Given the description of an element on the screen output the (x, y) to click on. 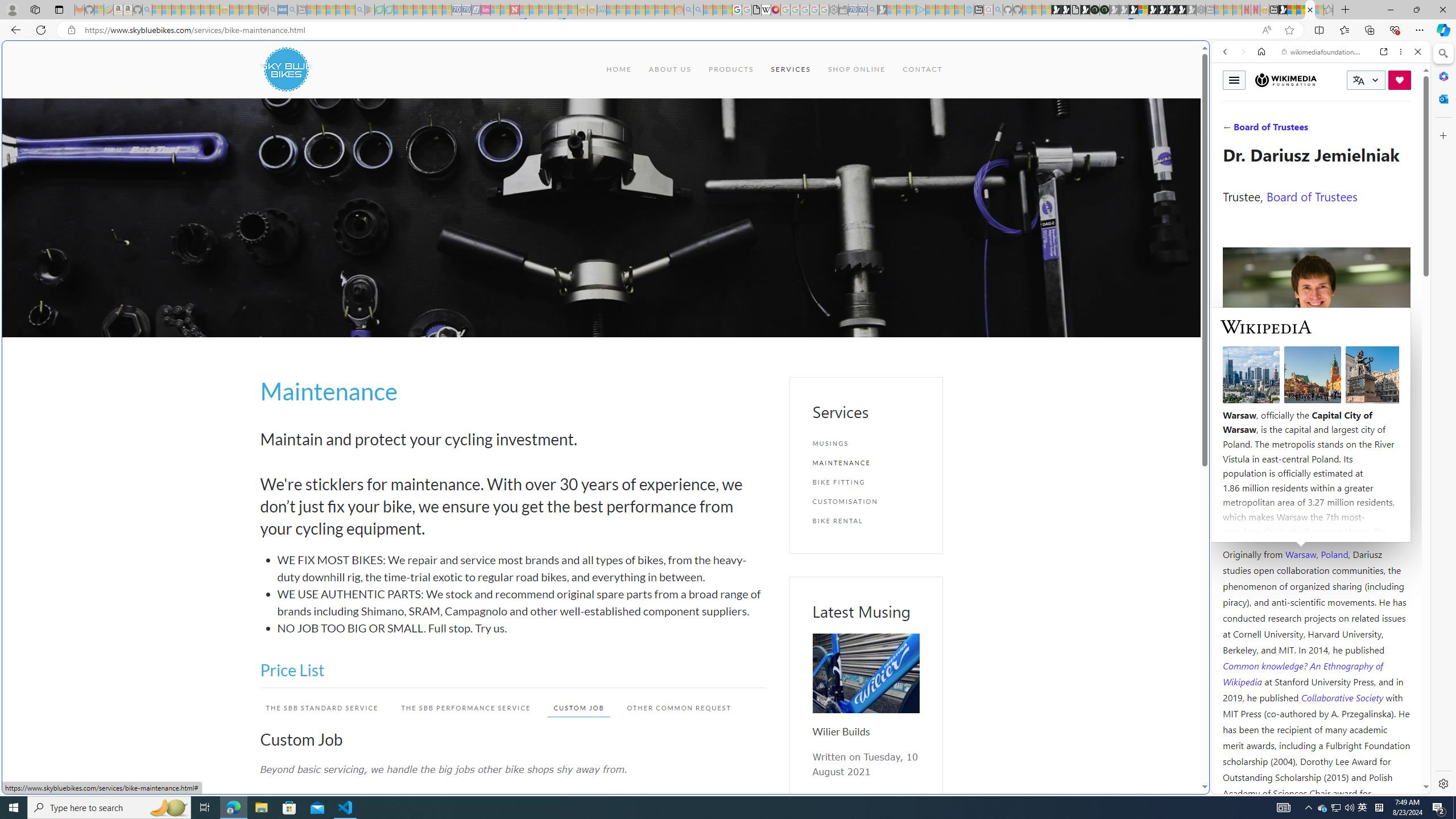
Wilier Builds (841, 730)
Terms of Use Agreement - Sleeping (378, 9)
Wiktionary (1315, 380)
SERVICES (790, 68)
WEB   (1230, 130)
Wallet - Sleeping (843, 9)
Local - MSN - Sleeping (253, 9)
